Given the description of an element on the screen output the (x, y) to click on. 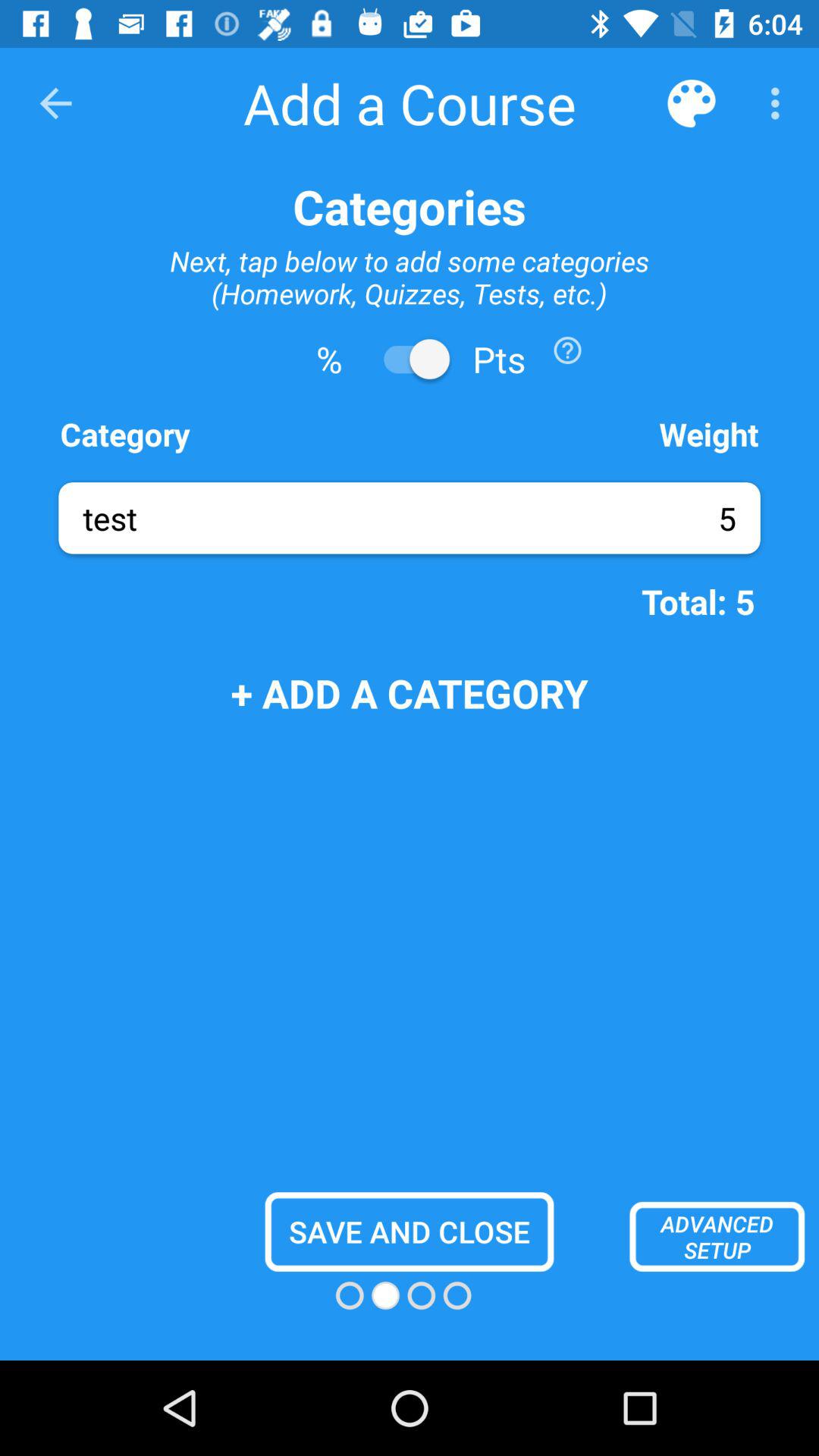
choose the icon above the weight item (567, 350)
